Given the description of an element on the screen output the (x, y) to click on. 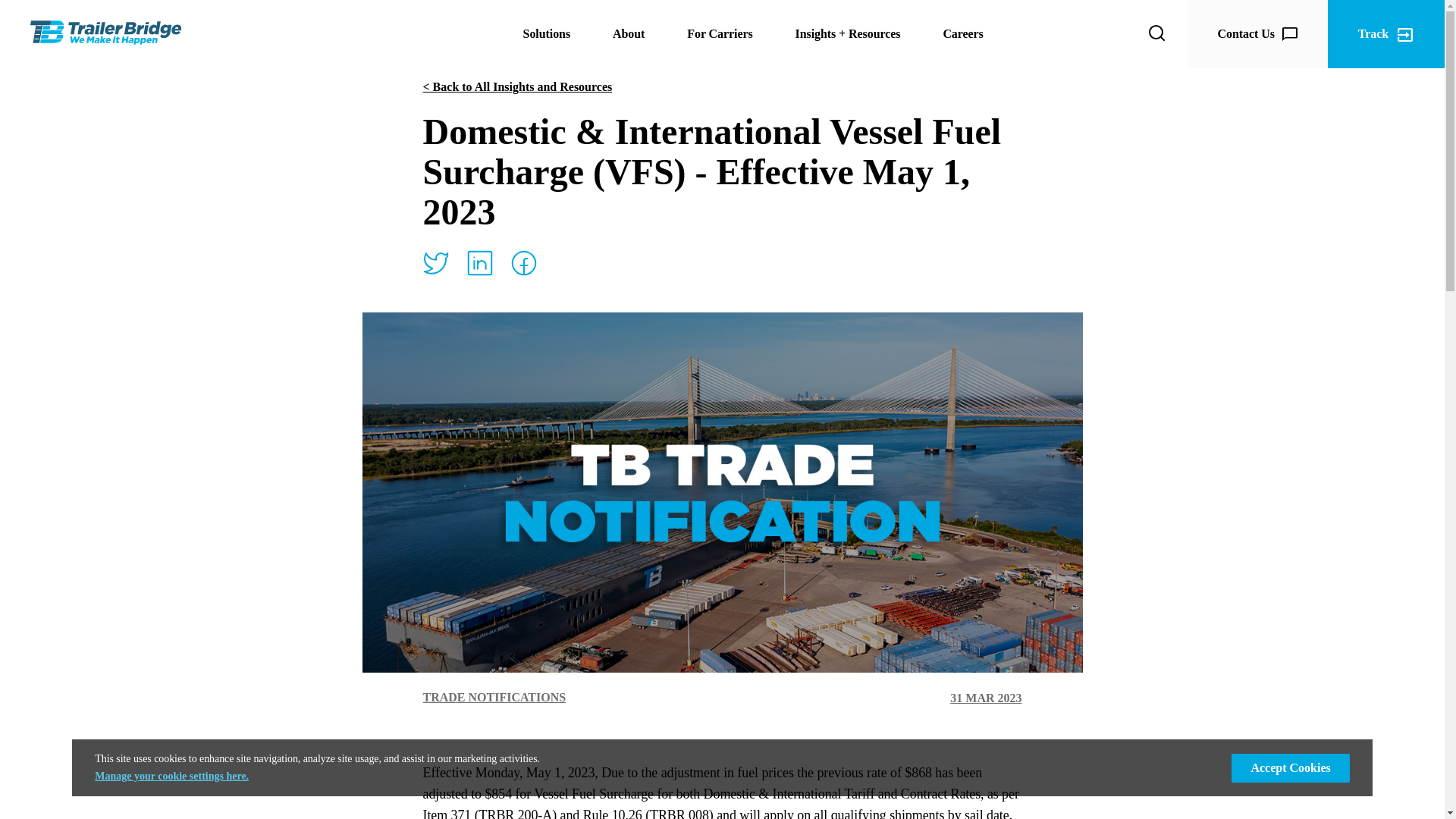
Contact Us (1257, 33)
For Carriers (719, 34)
Solutions (546, 34)
Logo Trailer Bridge (106, 33)
TRADE NOTIFICATIONS (494, 697)
Solutions (546, 34)
About (628, 34)
Logo Trailer Bridge (106, 32)
Careers (962, 34)
